Given the description of an element on the screen output the (x, y) to click on. 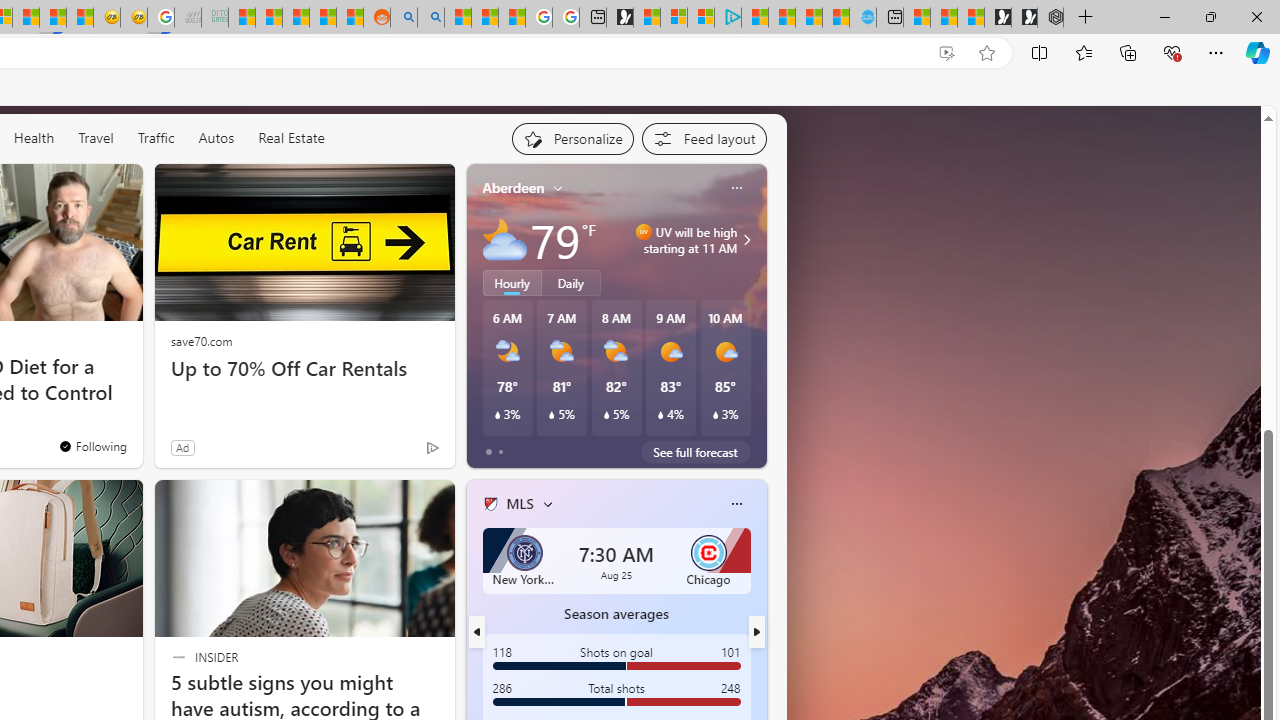
Mostly cloudy (504, 240)
Autos (216, 138)
Student Loan Update: Forgiveness Program Ends This Month (322, 17)
You're following Newsweek (92, 445)
New York City 7:30 AM Aug 25 Chicago (616, 560)
Aberdeen (513, 188)
Enhance video (946, 53)
